Given the description of an element on the screen output the (x, y) to click on. 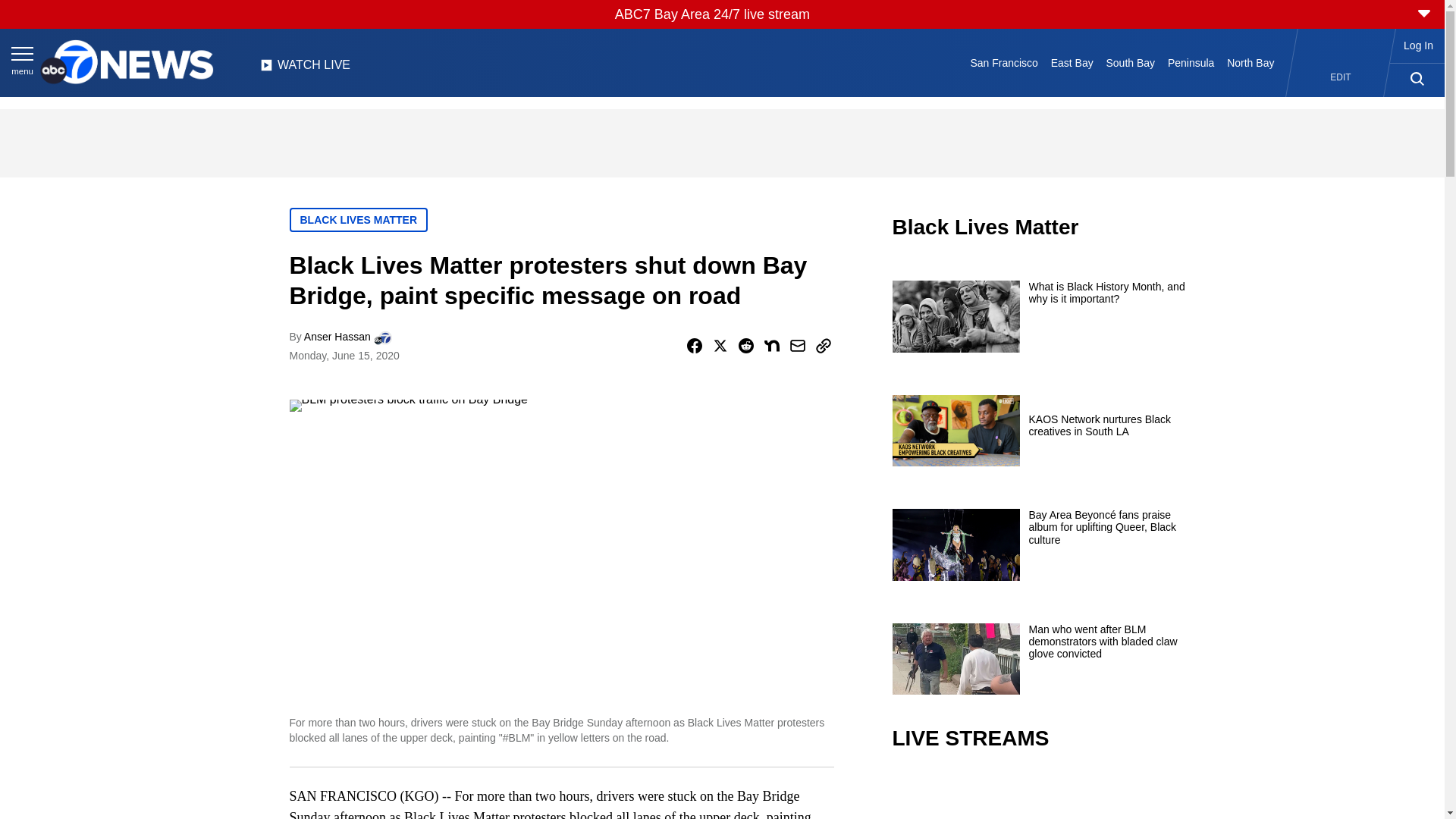
WATCH LIVE (305, 69)
San Francisco (1003, 62)
EDIT (1340, 77)
South Bay (1129, 62)
East Bay (1071, 62)
video.title (1043, 796)
North Bay (1251, 62)
Peninsula (1191, 62)
